Given the description of an element on the screen output the (x, y) to click on. 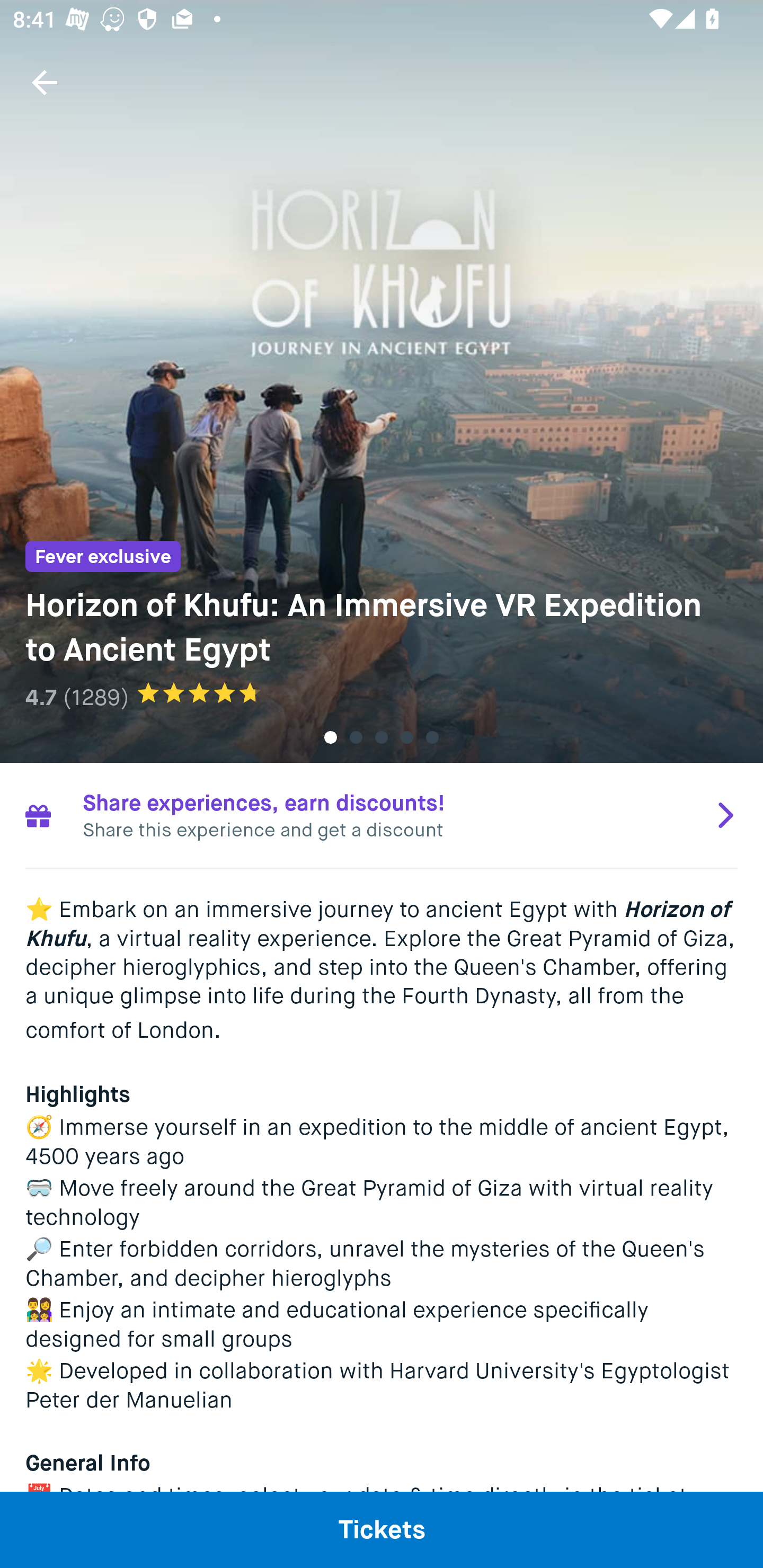
Navigate up (44, 82)
(1289) (95, 697)
Tickets (381, 1529)
